Given the description of an element on the screen output the (x, y) to click on. 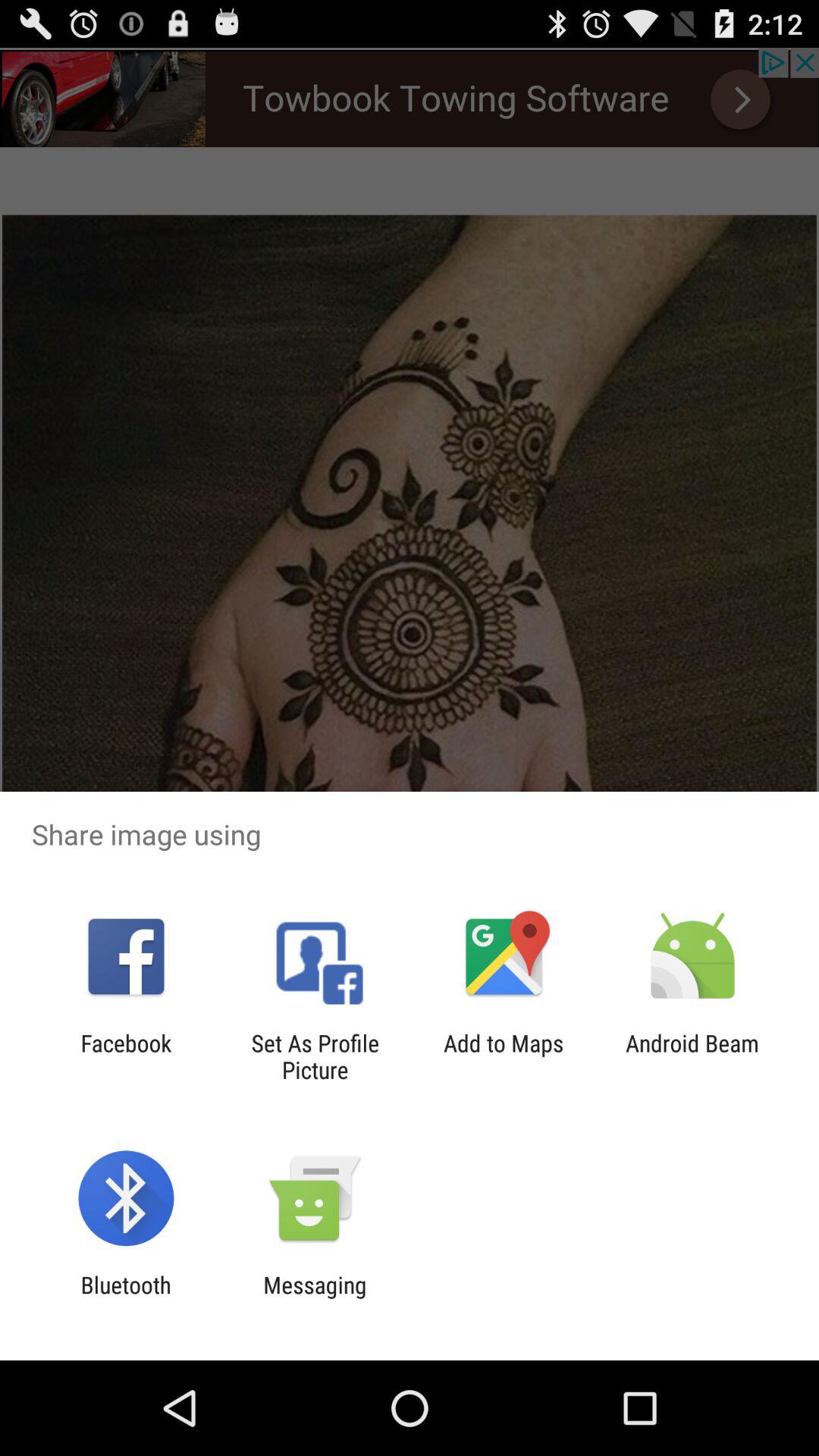
turn off app next to facebook app (314, 1056)
